Given the description of an element on the screen output the (x, y) to click on. 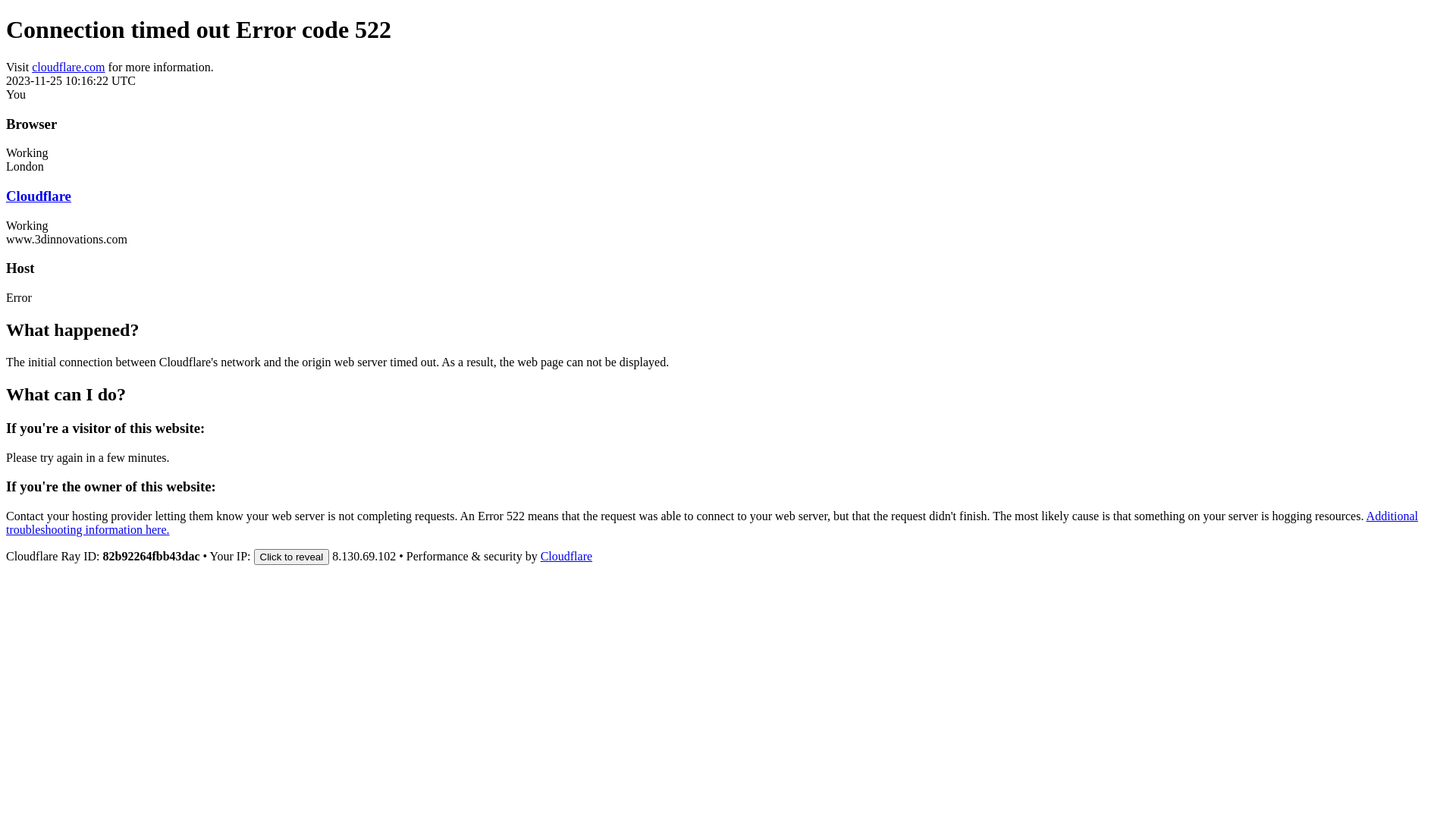
Cloudflare Element type: text (566, 555)
Click to reveal Element type: text (291, 556)
cloudflare.com Element type: text (67, 66)
Additional troubleshooting information here. Element type: text (712, 522)
Cloudflare Element type: text (38, 195)
